Given the description of an element on the screen output the (x, y) to click on. 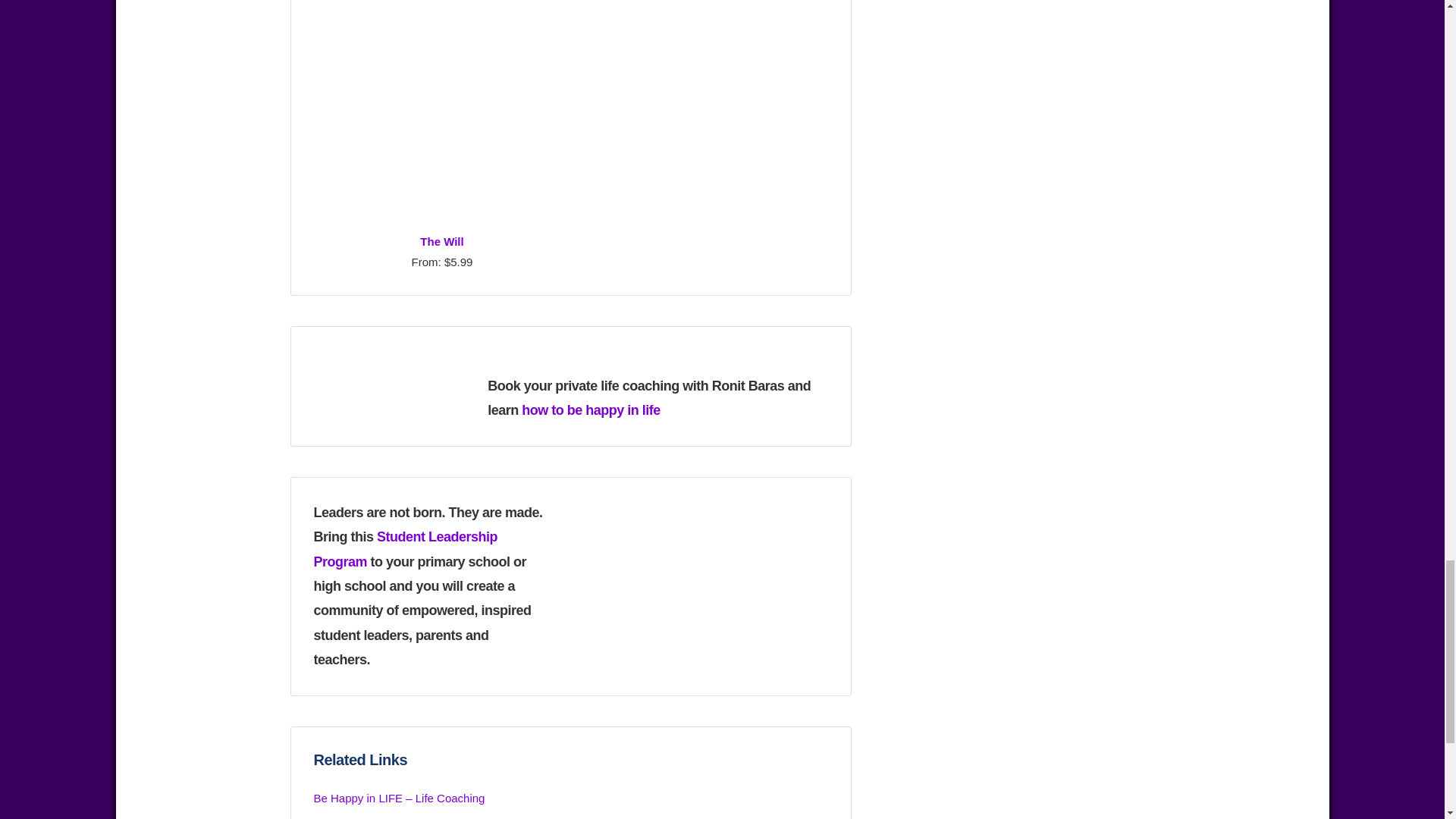
Student Leadership Programs with Ronit Baras (405, 548)
Life coaching (591, 409)
My life coaching site (399, 797)
Be Happy in LIFE - life coaching (389, 383)
